Given the description of an element on the screen output the (x, y) to click on. 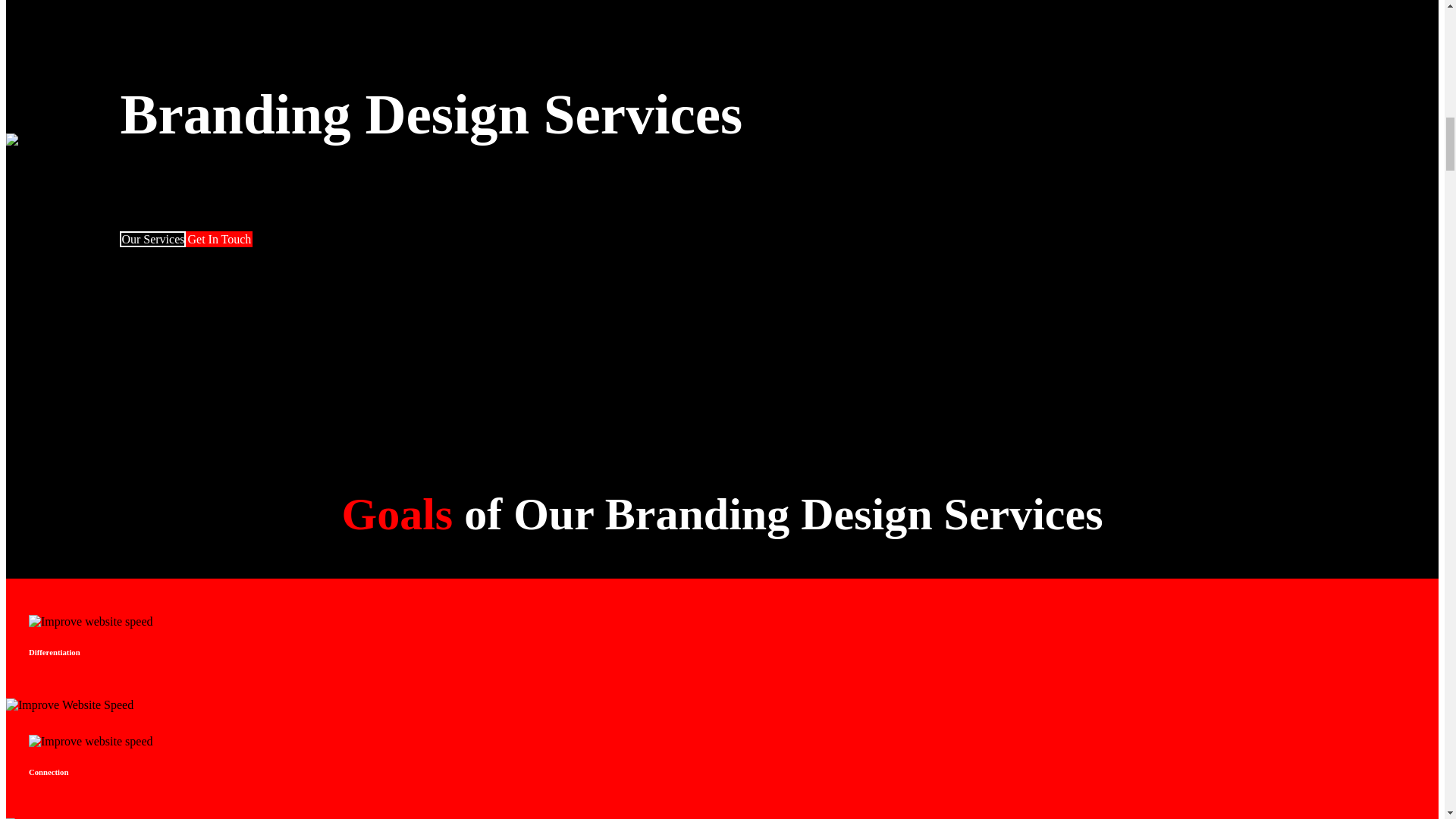
Technical SEO Services (62, 146)
